Given the description of an element on the screen output the (x, y) to click on. 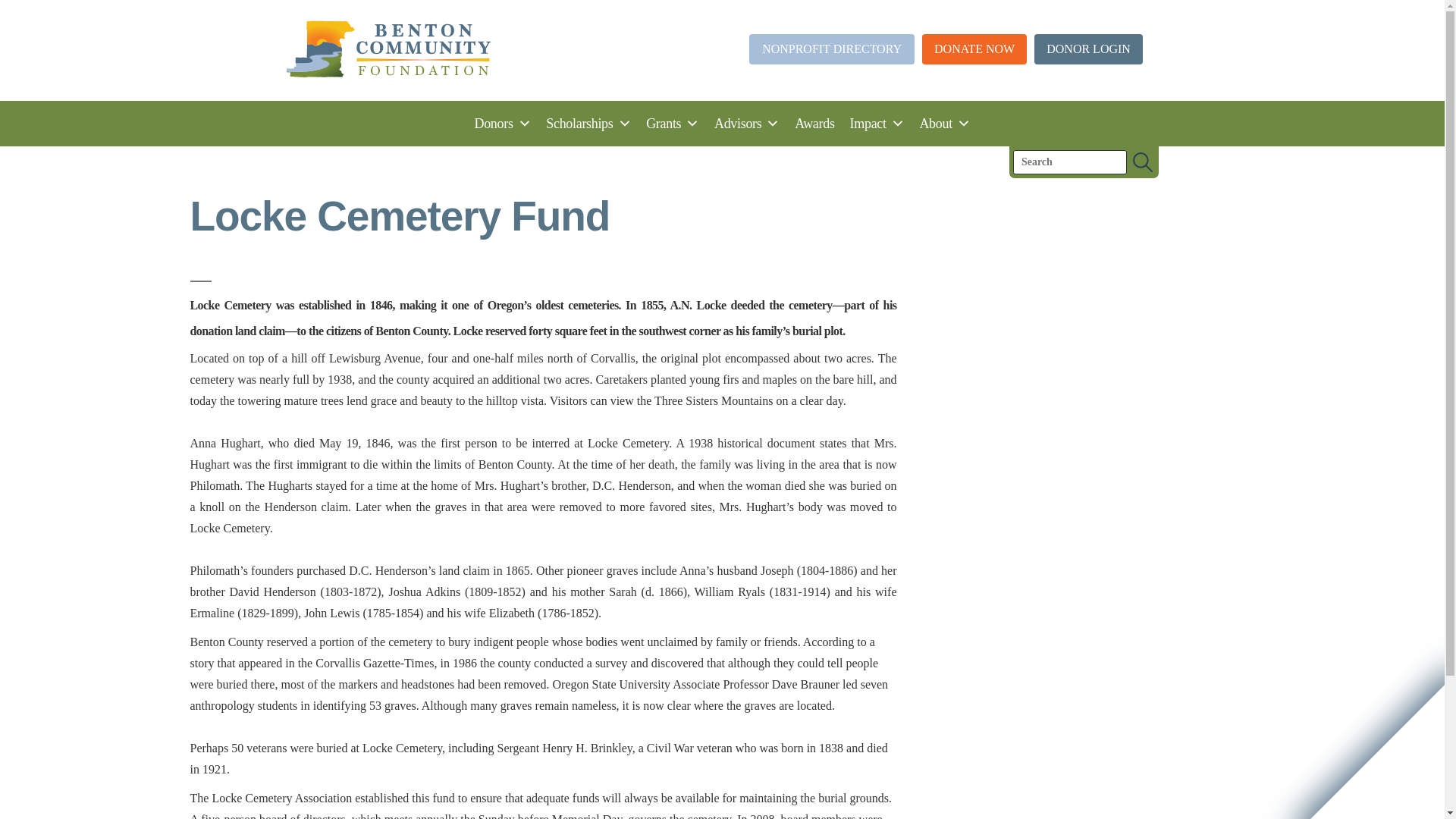
DONOR LOGIN (1087, 49)
DONATE NOW (973, 49)
Advisors (746, 122)
Awards (814, 122)
Grants (672, 122)
Donors (501, 122)
Impact (877, 122)
Scholarships (588, 122)
NONPROFIT DIRECTORY (831, 49)
